Given the description of an element on the screen output the (x, y) to click on. 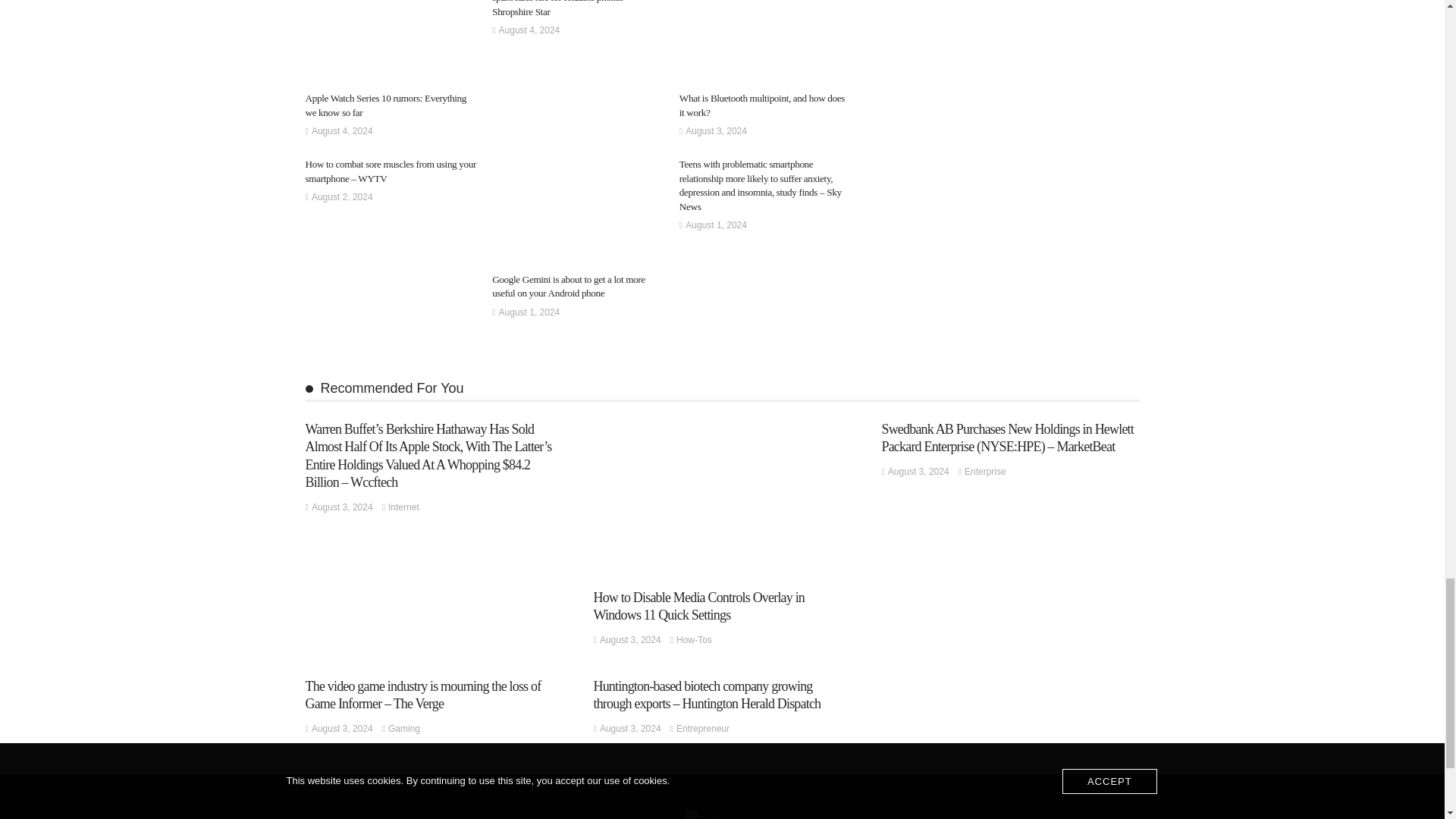
Apple Watch Series 10 rumors: Everything we know so far (384, 104)
